Given the description of an element on the screen output the (x, y) to click on. 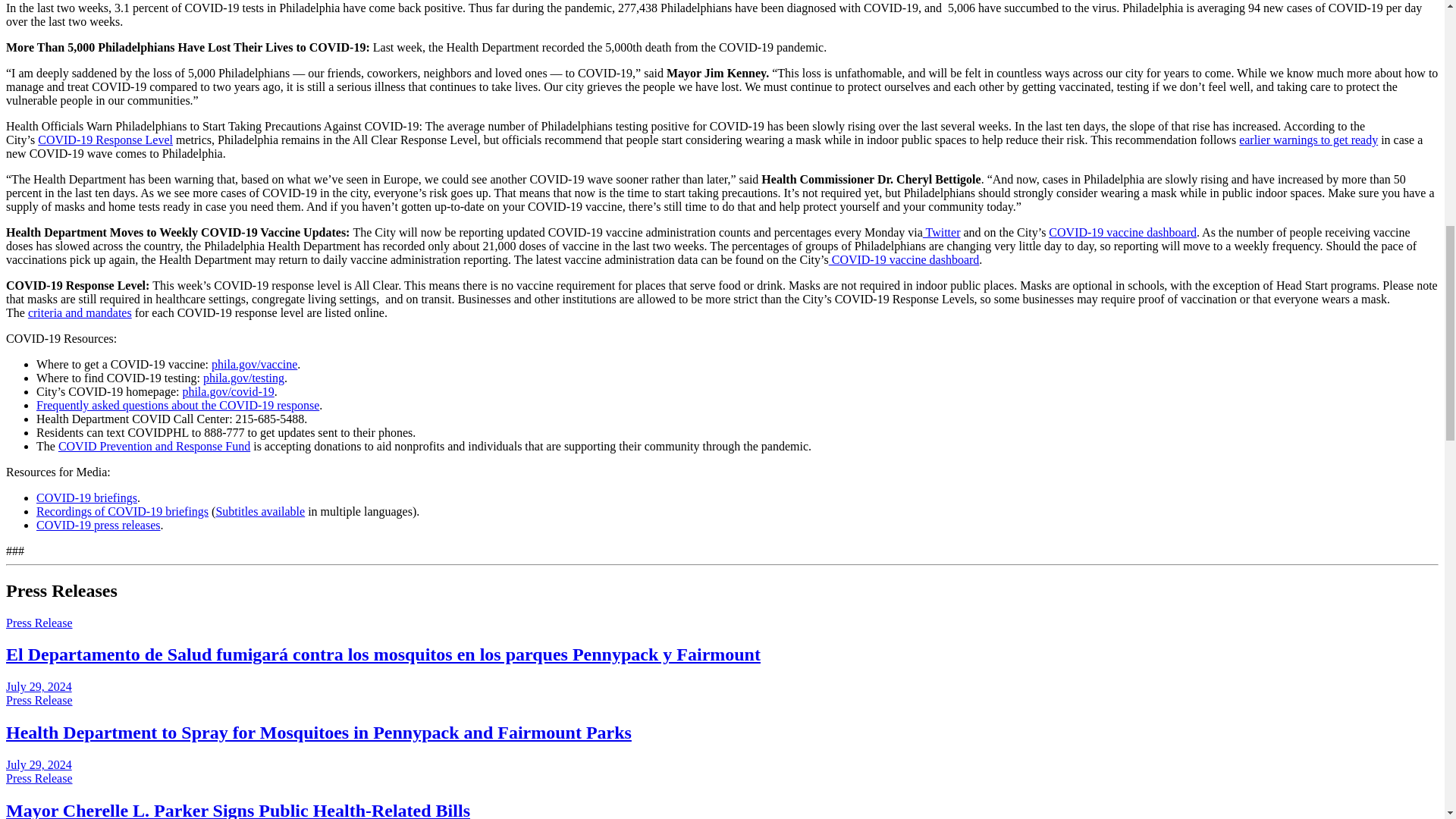
COVID-19 Response Level (105, 139)
 Twitter (941, 232)
earlier warnings to get ready (1308, 139)
 COVID-19 vaccine dashboard (903, 259)
COVID-19 vaccine dashboard (1122, 232)
